Given the description of an element on the screen output the (x, y) to click on. 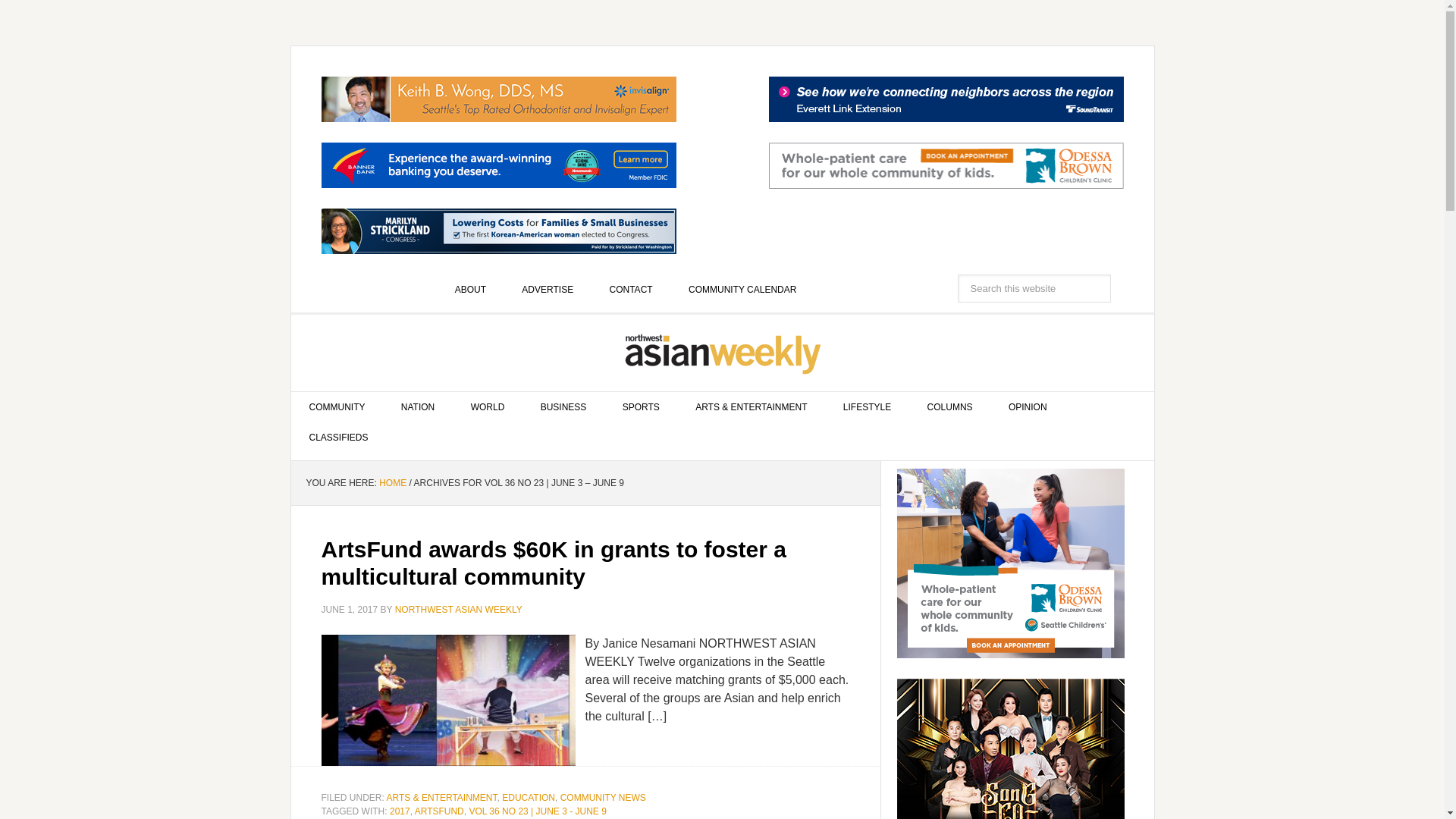
SPORTS (641, 407)
WORLD (487, 407)
CONTACT (631, 289)
HOME (392, 482)
LIFESTYLE (866, 407)
OPINION (1027, 407)
COMMUNITY CALENDAR (741, 289)
ADVERTISE (547, 289)
NATION (417, 407)
